Given the description of an element on the screen output the (x, y) to click on. 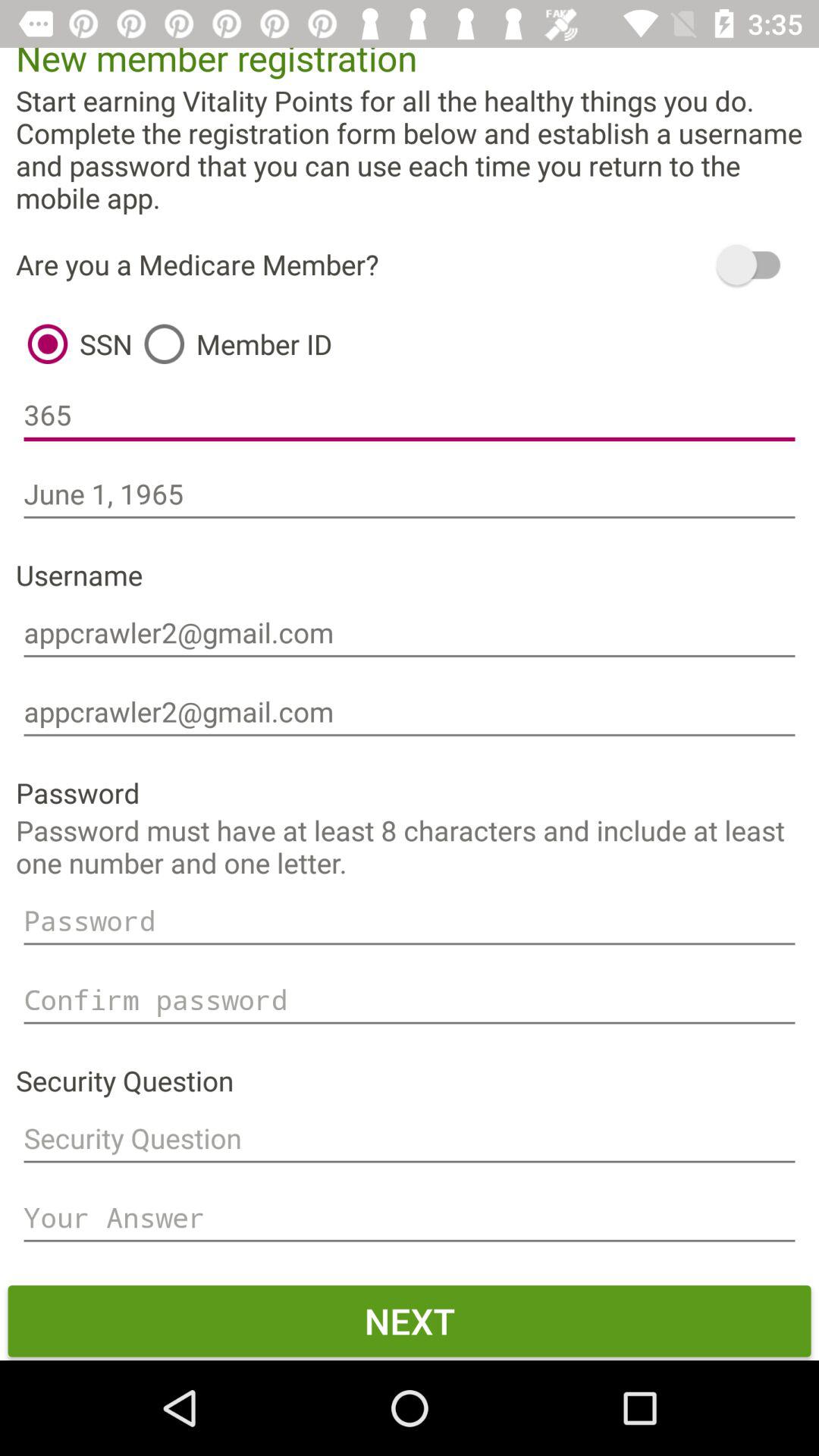
password text box (409, 920)
